Given the description of an element on the screen output the (x, y) to click on. 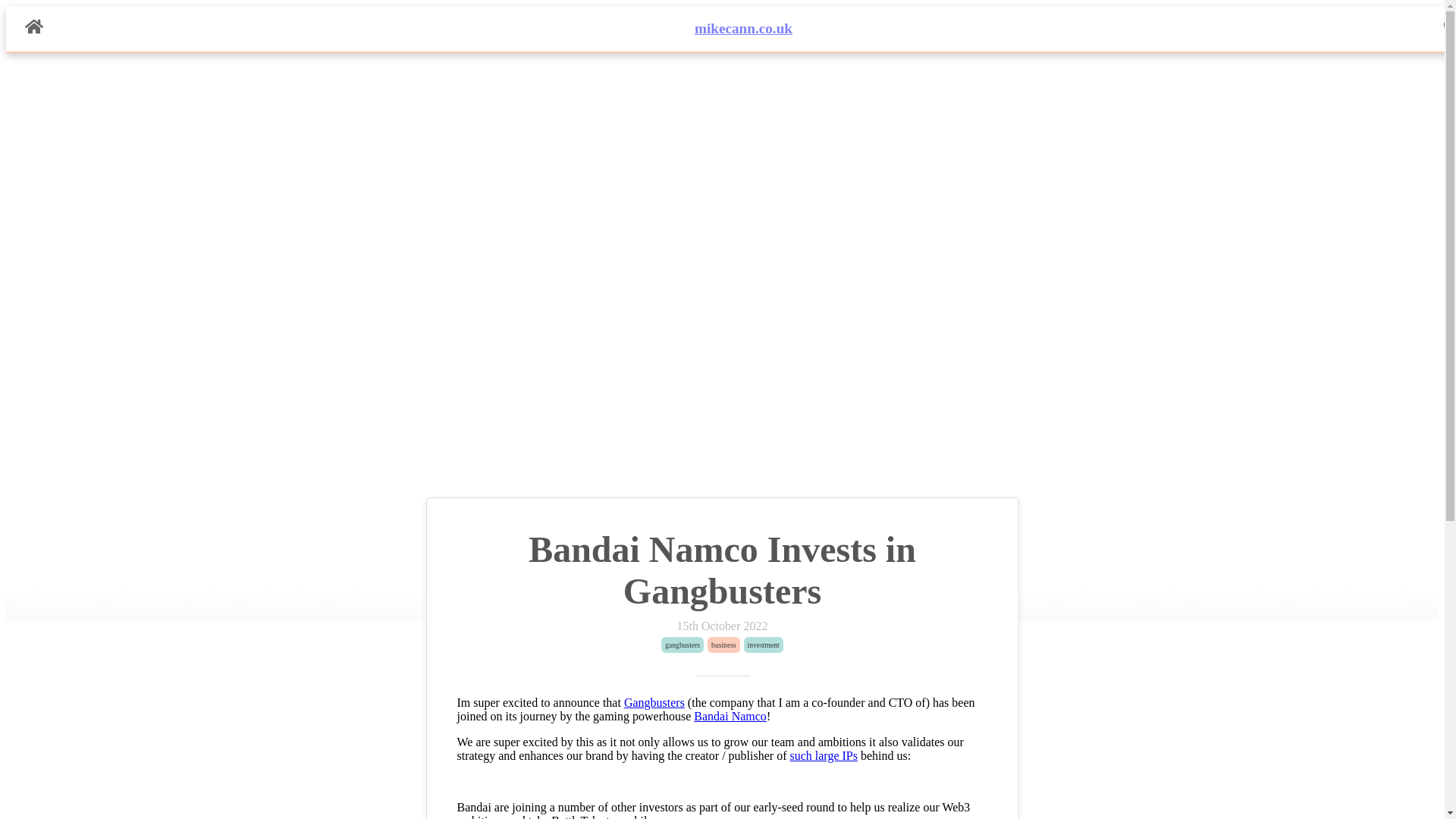
Gangbusters (654, 702)
mikecann.co.uk (743, 28)
such large IPs (823, 755)
Bandai Namco (730, 716)
